Given the description of an element on the screen output the (x, y) to click on. 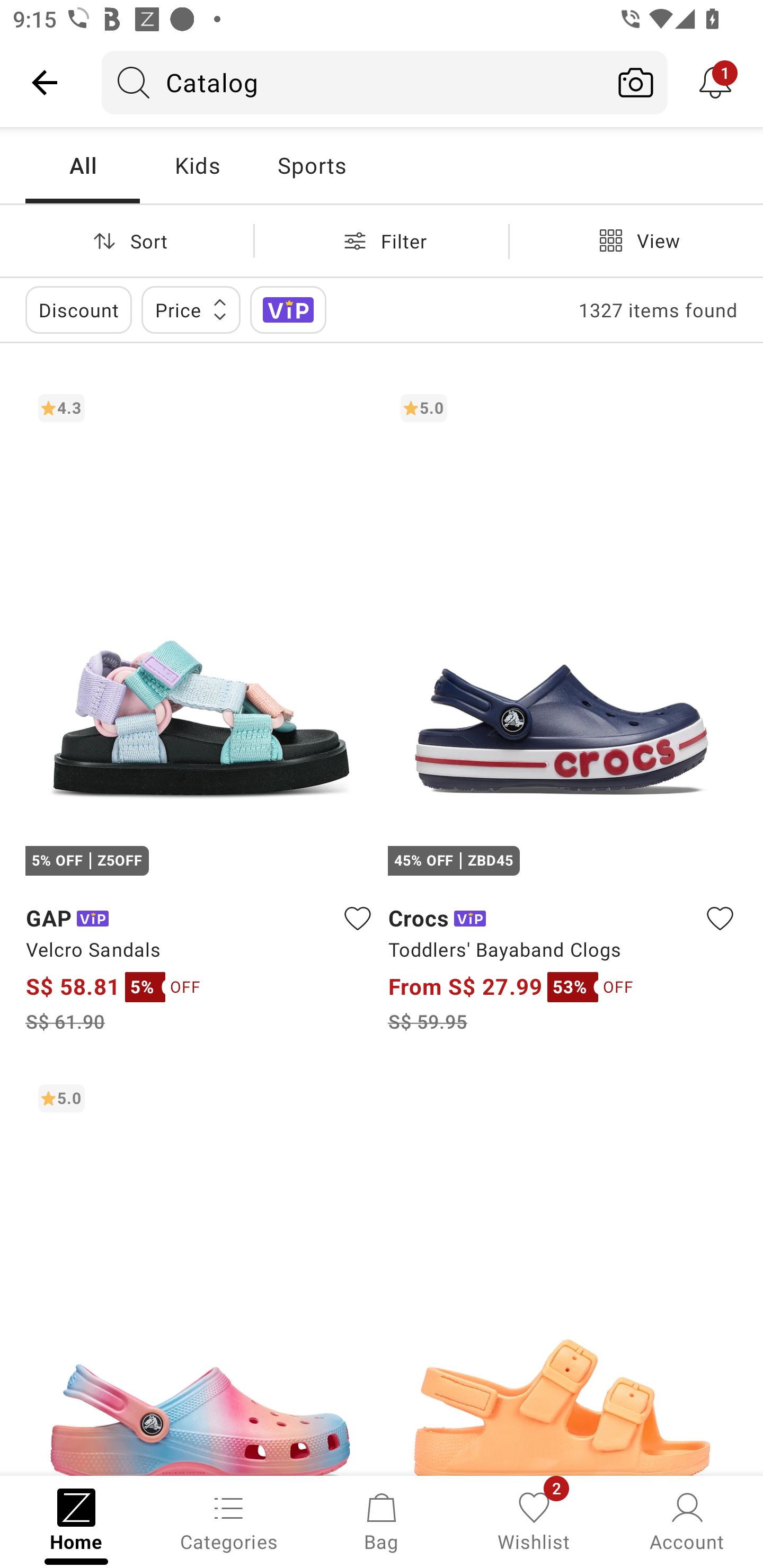
Navigate up (44, 82)
Catalog (352, 82)
Kids (196, 165)
Sports (311, 165)
Sort (126, 240)
Filter (381, 240)
View (636, 240)
Discount (78, 309)
Price (190, 309)
5.0 (200, 1272)
Categories (228, 1519)
Bag (381, 1519)
Wishlist, 2 new notifications Wishlist (533, 1519)
Account (686, 1519)
